Given the description of an element on the screen output the (x, y) to click on. 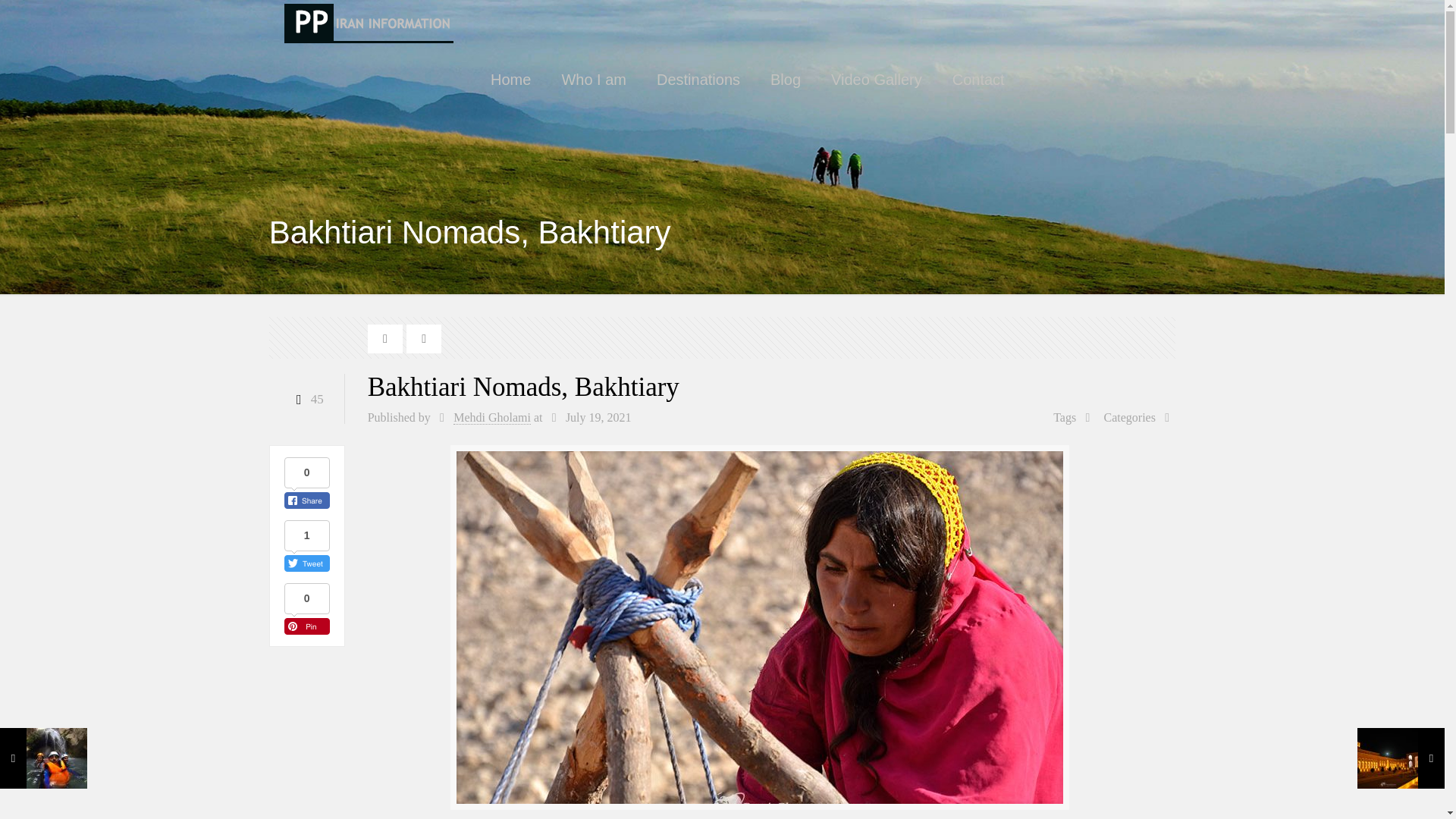
Blog (785, 79)
Mehdi Gholami (491, 418)
45 (306, 399)
Who I am (594, 79)
Iran Travel Information (367, 22)
Contact (978, 79)
Video Gallery (876, 79)
Destinations (698, 79)
Home (511, 79)
